Given the description of an element on the screen output the (x, y) to click on. 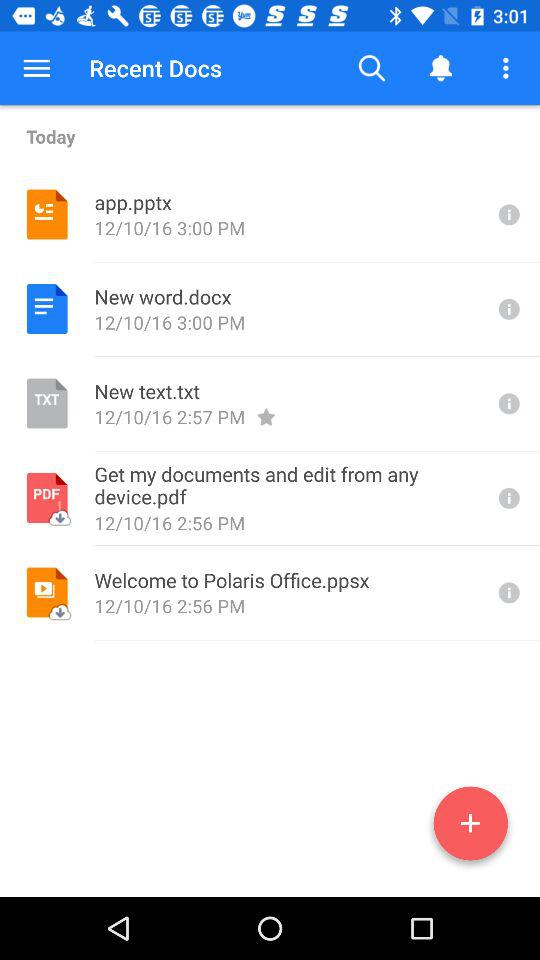
pulls up additional information (507, 592)
